Given the description of an element on the screen output the (x, y) to click on. 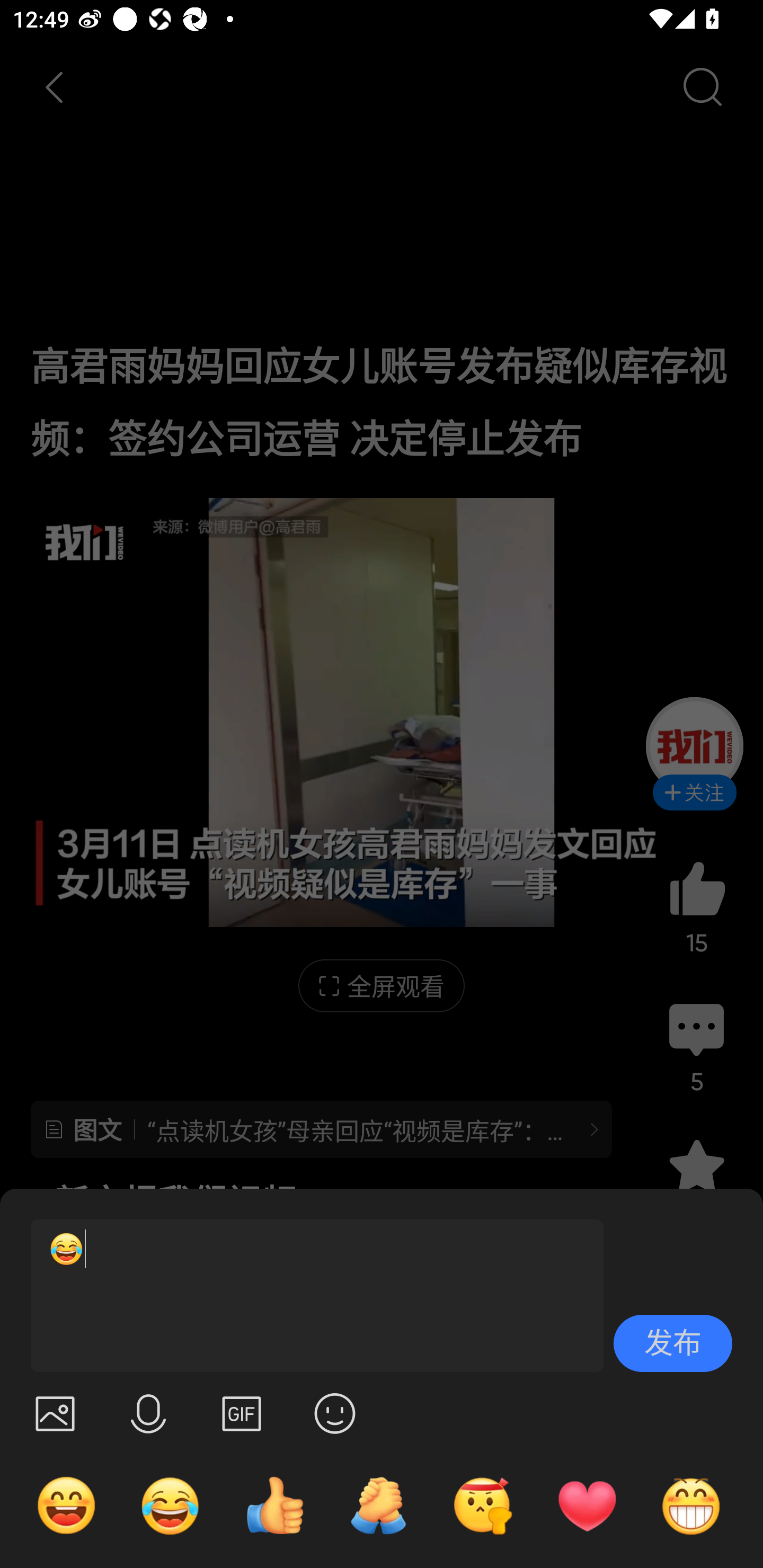
[哭笑] (308, 1295)
发布 (672, 1343)
 (54, 1413)
 (148, 1413)
 (241, 1413)
 (334, 1413)
哈哈 (66, 1505)
哭笑 (170, 1505)
点赞 (274, 1505)
加油 (378, 1505)
奋斗 (482, 1505)
心 (586, 1505)
呲牙 (690, 1505)
